Given the description of an element on the screen output the (x, y) to click on. 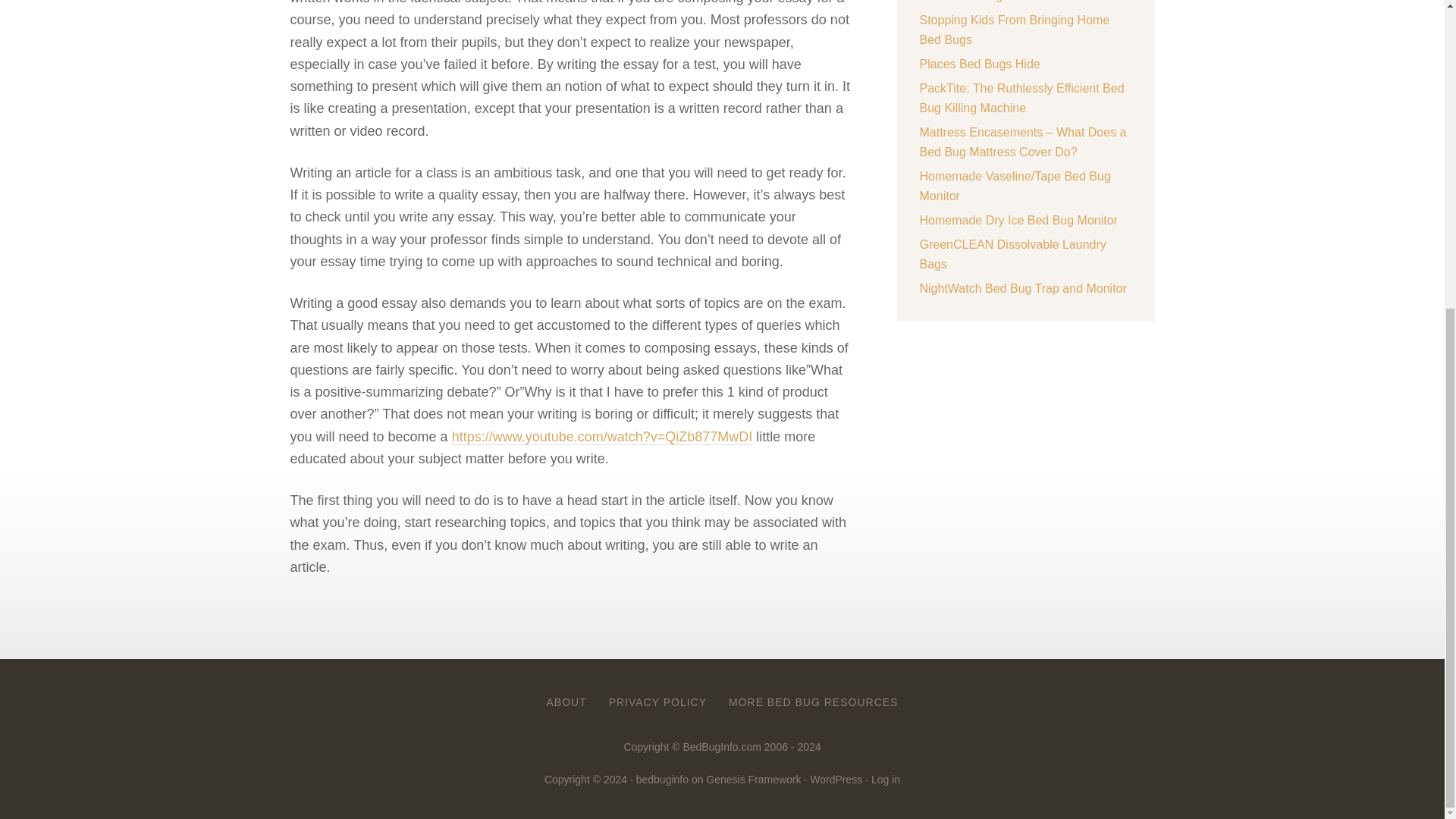
PRIVACY POLICY (657, 702)
PackTite: The Ruthlessly Efficient Bed Bug Killing Machine (1021, 97)
Log in (884, 779)
Stopping Kids From Bringing Home Bed Bugs (1013, 29)
Protecting Yourself from Business Travel Bed Bugs (1009, 1)
Places Bed Bugs Hide (978, 63)
GreenCLEAN Dissolvable Laundry Bags (1011, 254)
Genesis Framework (753, 779)
WordPress (835, 779)
ABOUT (566, 702)
NightWatch Bed Bug Trap and Monitor (1021, 287)
MORE BED BUG RESOURCES (813, 702)
bedbuginfo (662, 779)
Homemade Dry Ice Bed Bug Monitor (1017, 219)
